Given the description of an element on the screen output the (x, y) to click on. 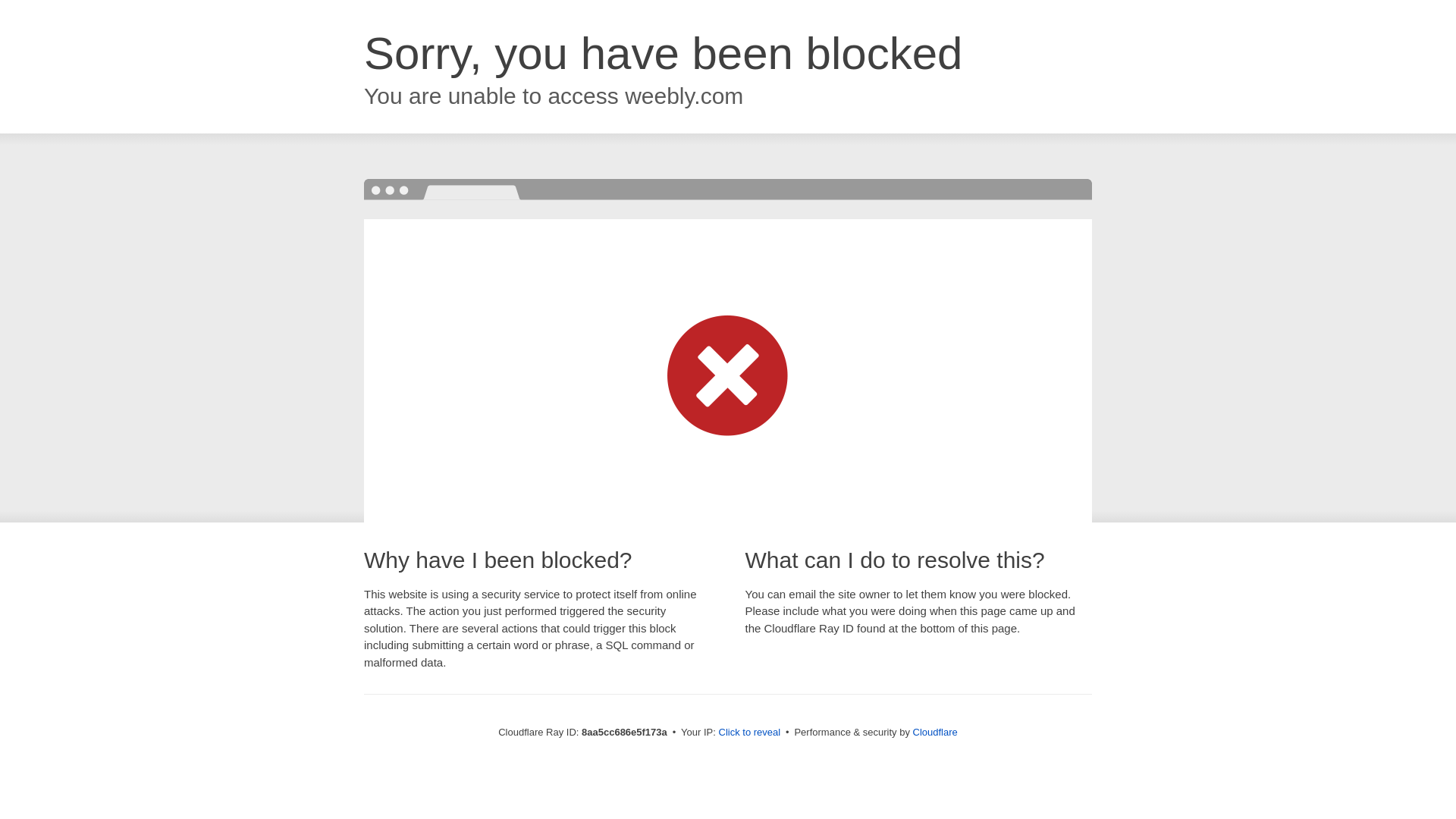
Cloudflare (935, 731)
Click to reveal (749, 732)
